Given the description of an element on the screen output the (x, y) to click on. 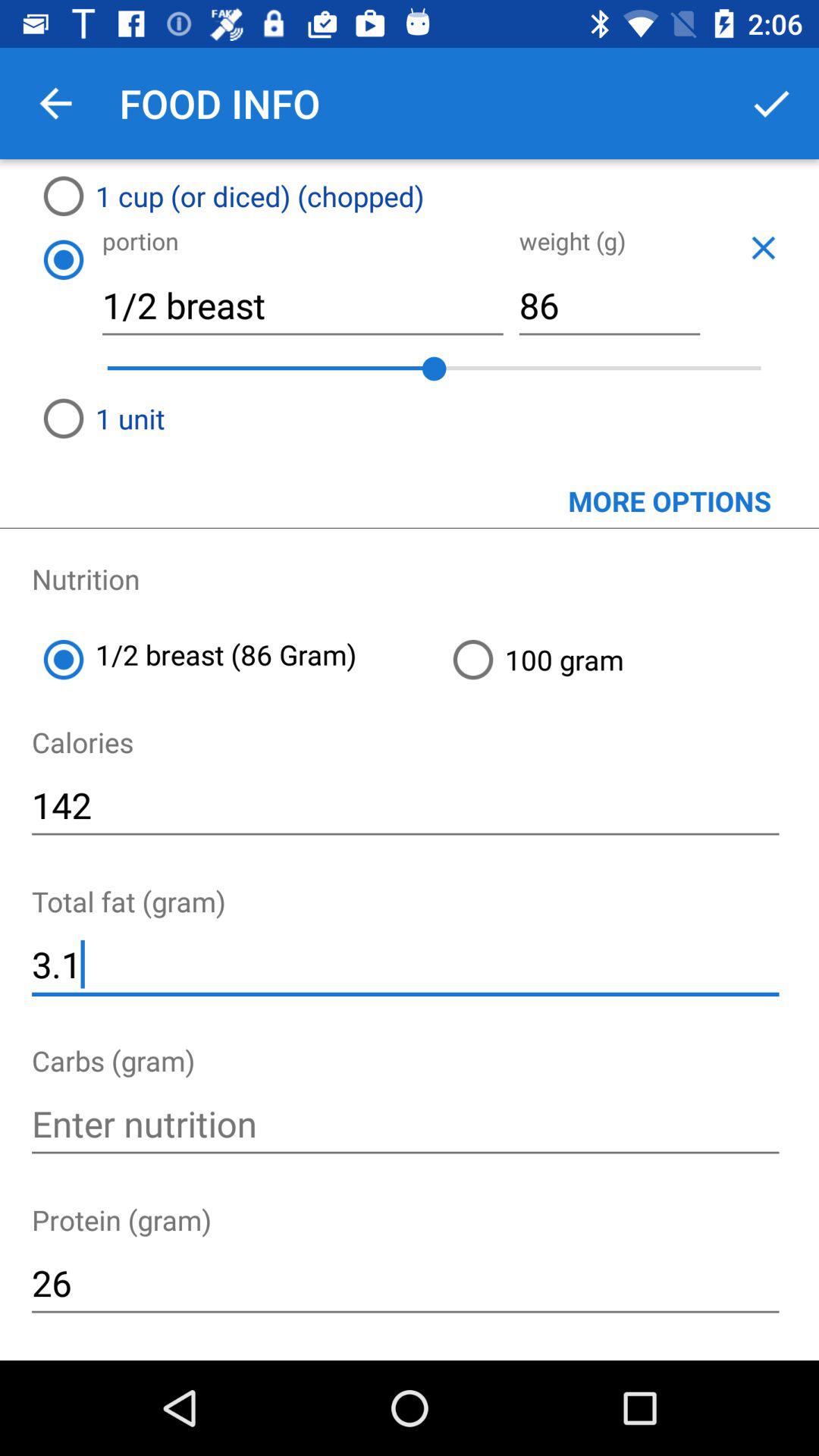
launch app to the left of food info app (55, 103)
